Given the description of an element on the screen output the (x, y) to click on. 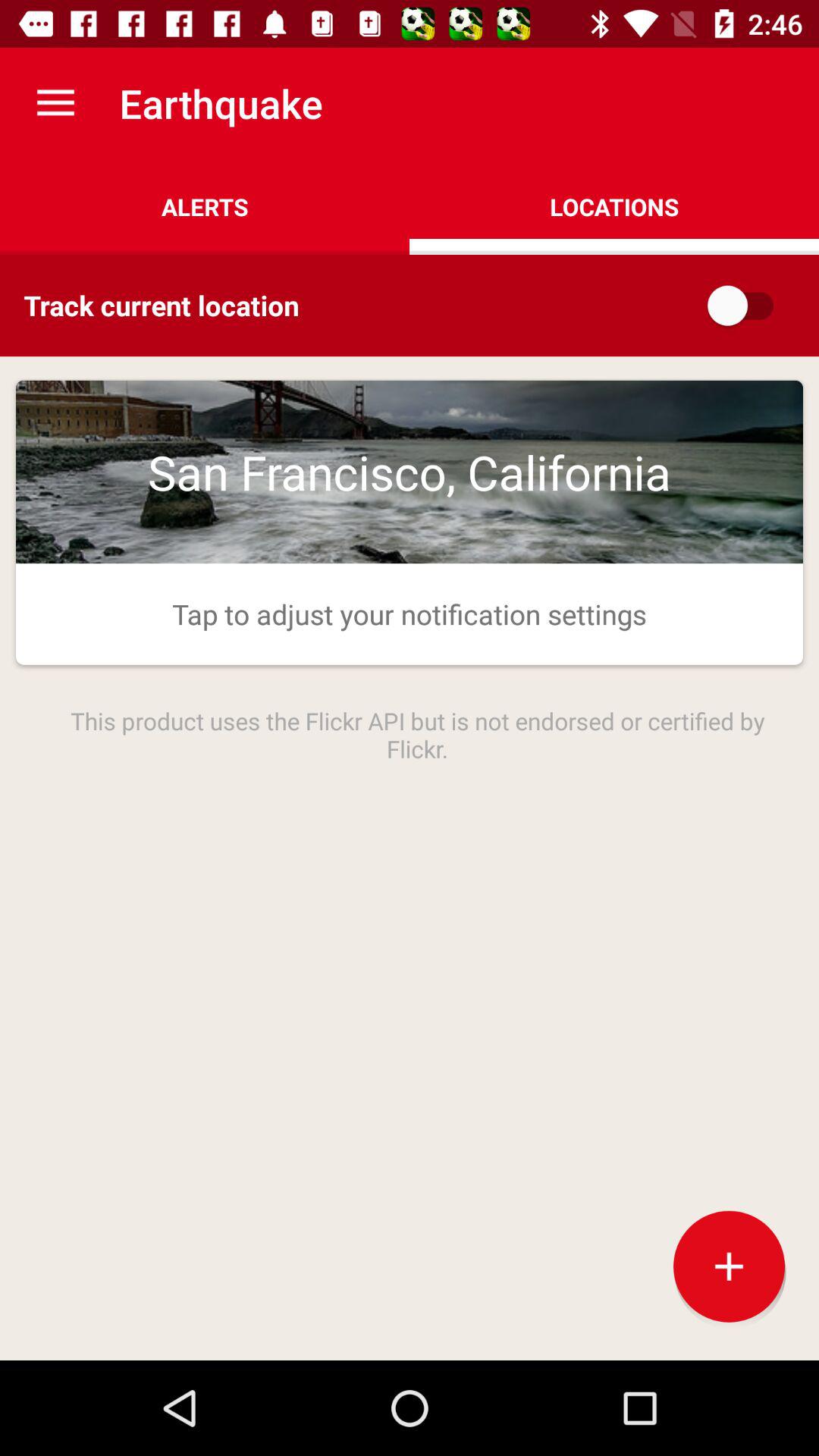
launch item next to locations icon (204, 206)
